Given the description of an element on the screen output the (x, y) to click on. 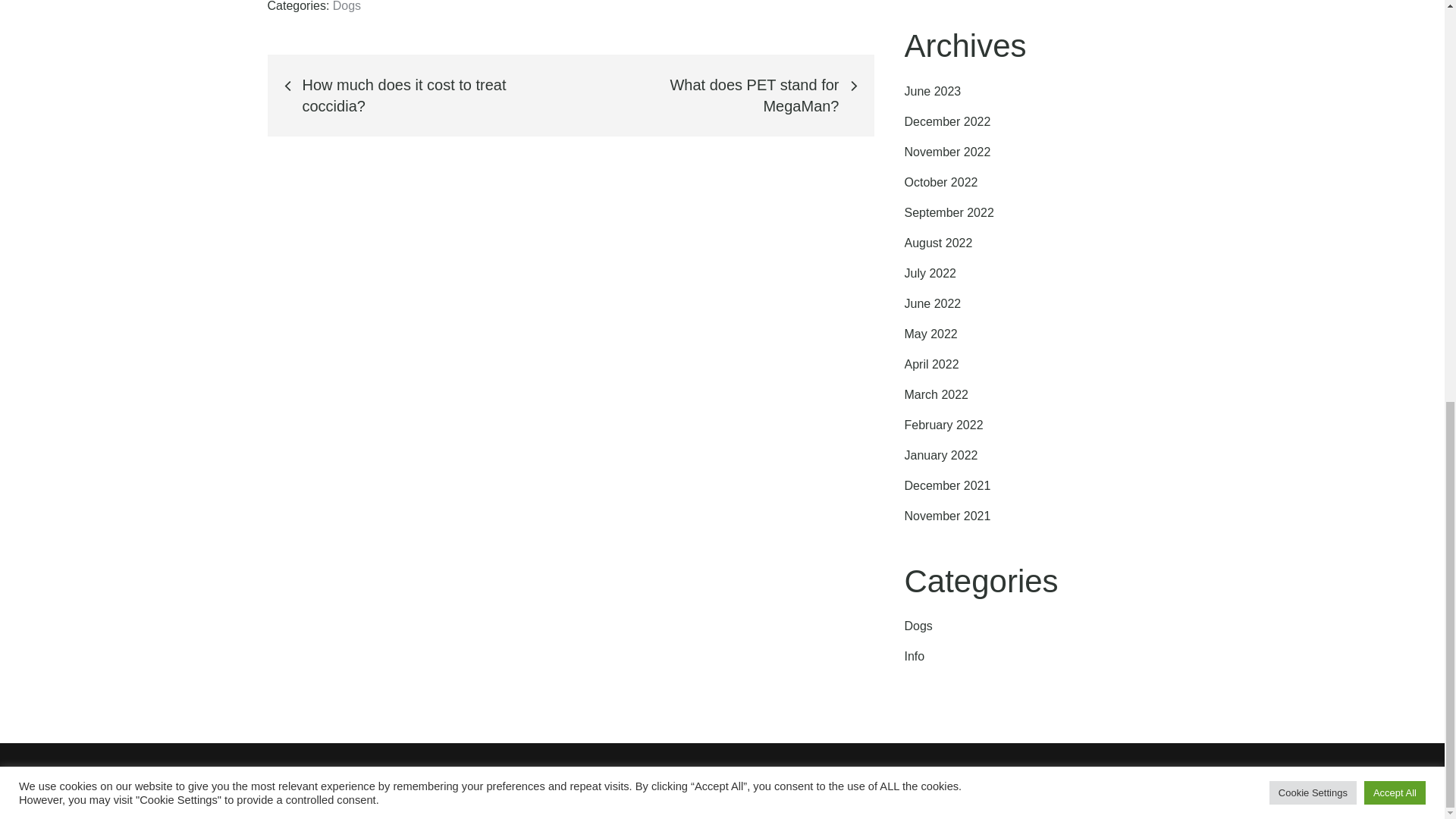
May 2022 (930, 333)
January 2022 (940, 454)
June 2022 (932, 303)
Dogs (917, 625)
September 2022 (948, 212)
Dogs (347, 6)
December 2022 (947, 121)
February 2022 (943, 424)
Accept All (1394, 7)
August 2022 (938, 242)
April 2022 (931, 364)
March 2022 (936, 394)
October 2022 (940, 182)
Privacy Policy (883, 780)
Pet Network (654, 780)
